Given the description of an element on the screen output the (x, y) to click on. 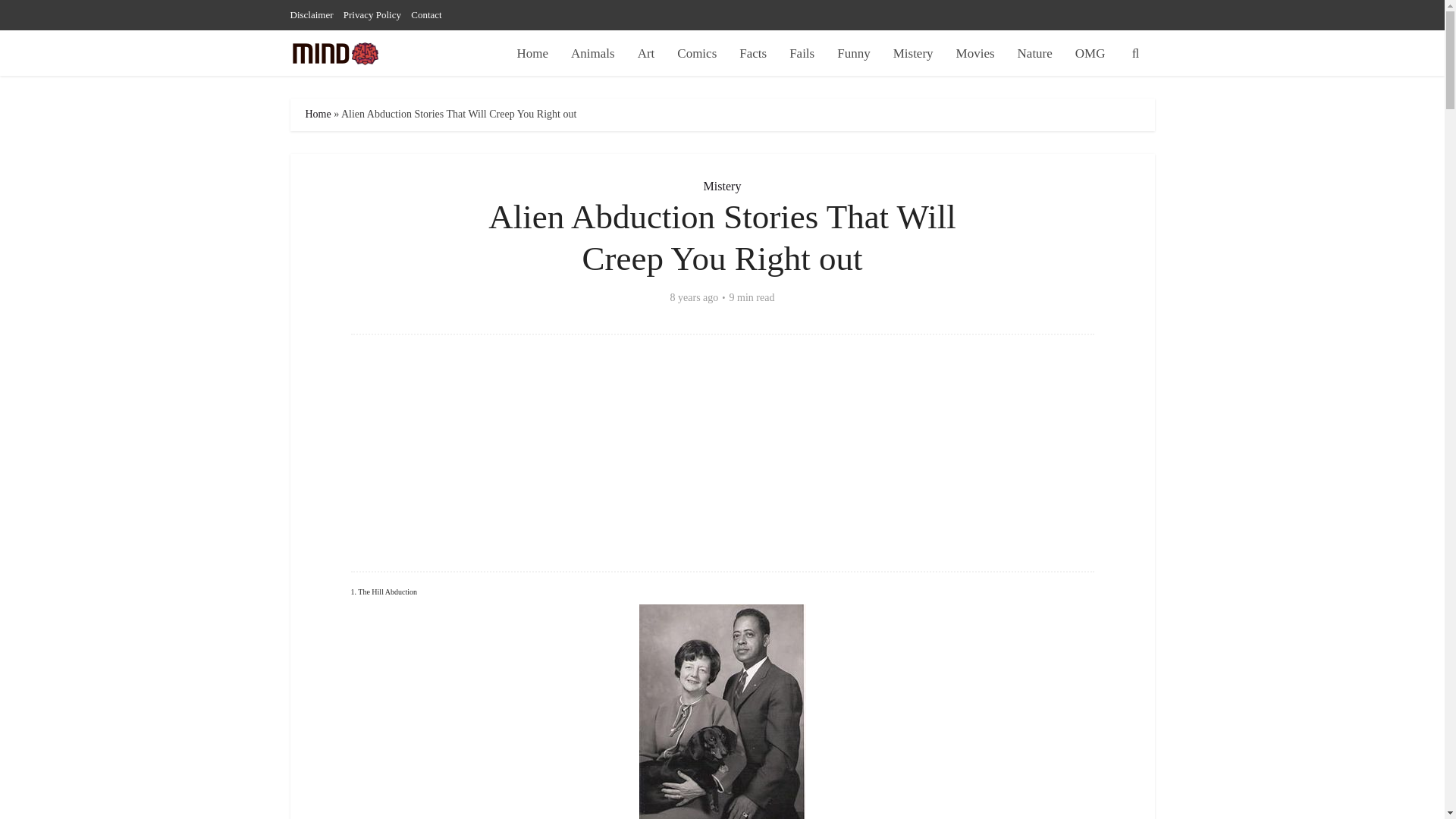
Funny (852, 53)
Fails (801, 53)
Facts (752, 53)
Animals (592, 53)
Comics (696, 53)
OMG (1090, 53)
Home (317, 113)
Mistery (722, 185)
Privacy Policy (372, 14)
Movies (975, 53)
